Given the description of an element on the screen output the (x, y) to click on. 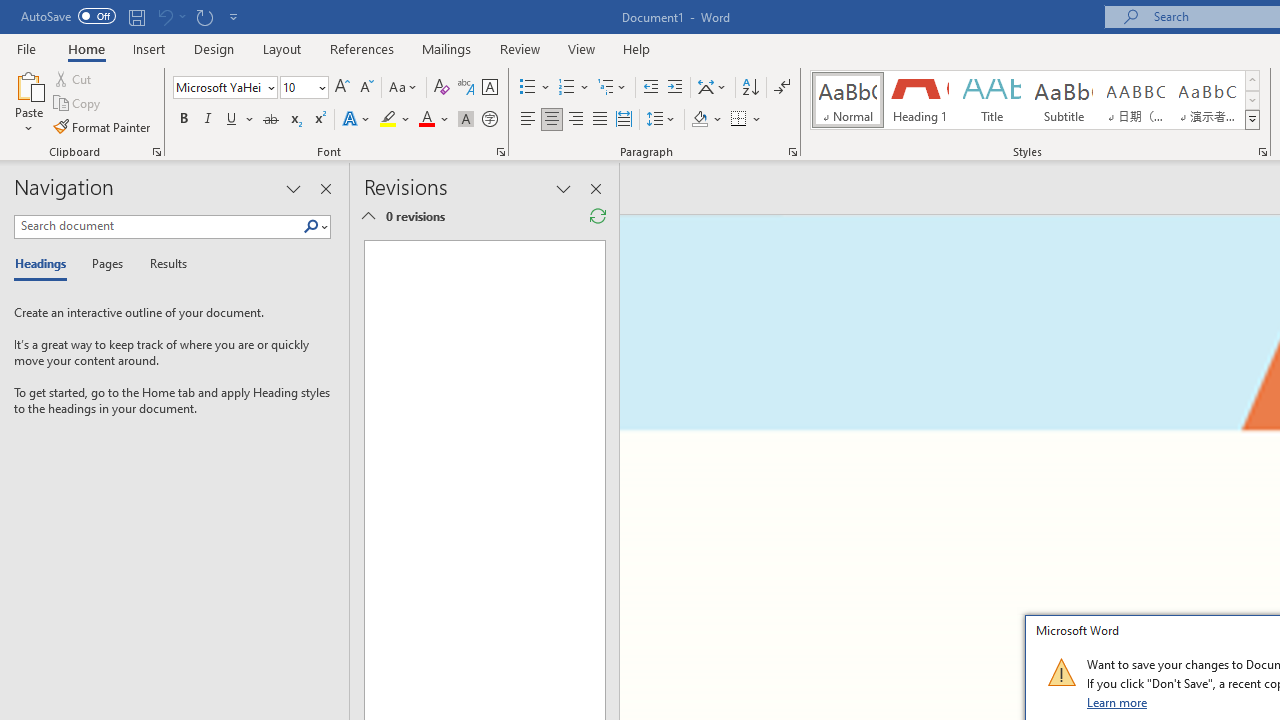
Bold (183, 119)
Office Clipboard... (156, 151)
Pages (105, 264)
Repeat Doc Close (204, 15)
Phonetic Guide... (465, 87)
Strikethrough (270, 119)
